Given the description of an element on the screen output the (x, y) to click on. 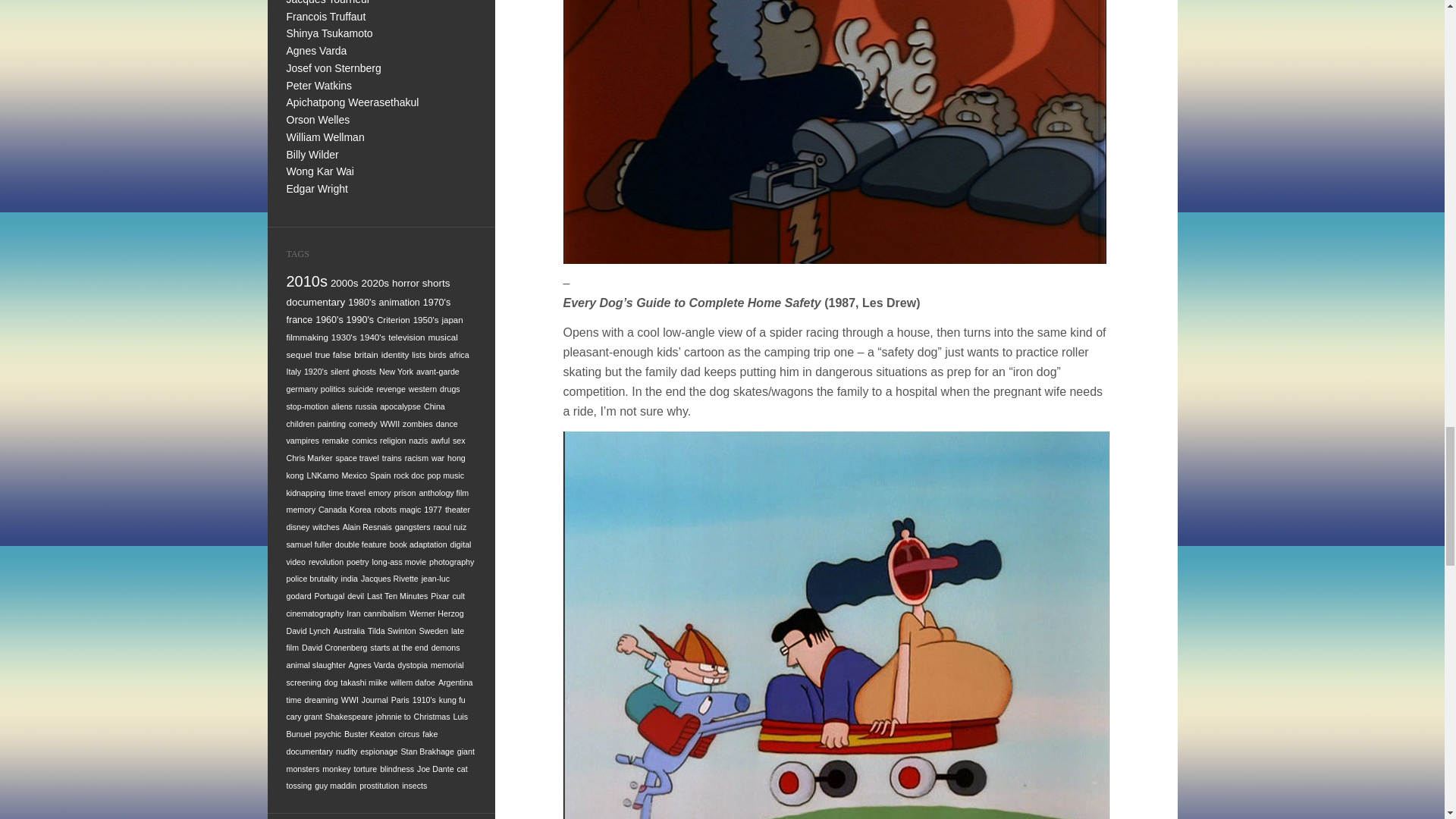
323 topics (435, 283)
243 topics (360, 319)
288 topics (361, 302)
343 topics (374, 283)
972 topics (307, 280)
352 topics (344, 283)
319 topics (316, 301)
163 topics (307, 337)
277 topics (399, 302)
338 topics (405, 283)
208 topics (393, 319)
269 topics (437, 302)
196 topics (426, 319)
170 topics (452, 319)
250 topics (329, 319)
